Given the description of an element on the screen output the (x, y) to click on. 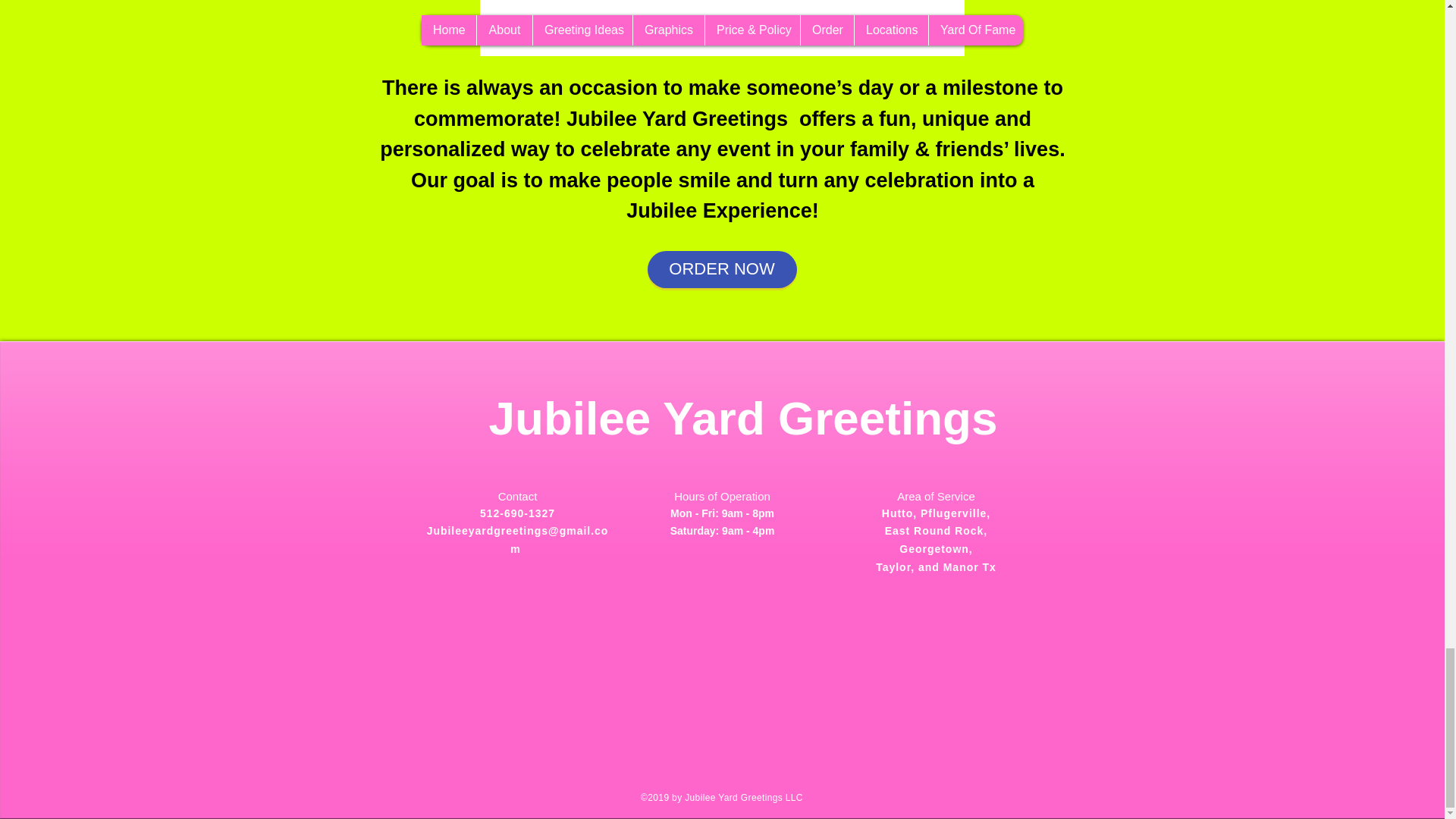
ORDER NOW (721, 269)
